Given the description of an element on the screen output the (x, y) to click on. 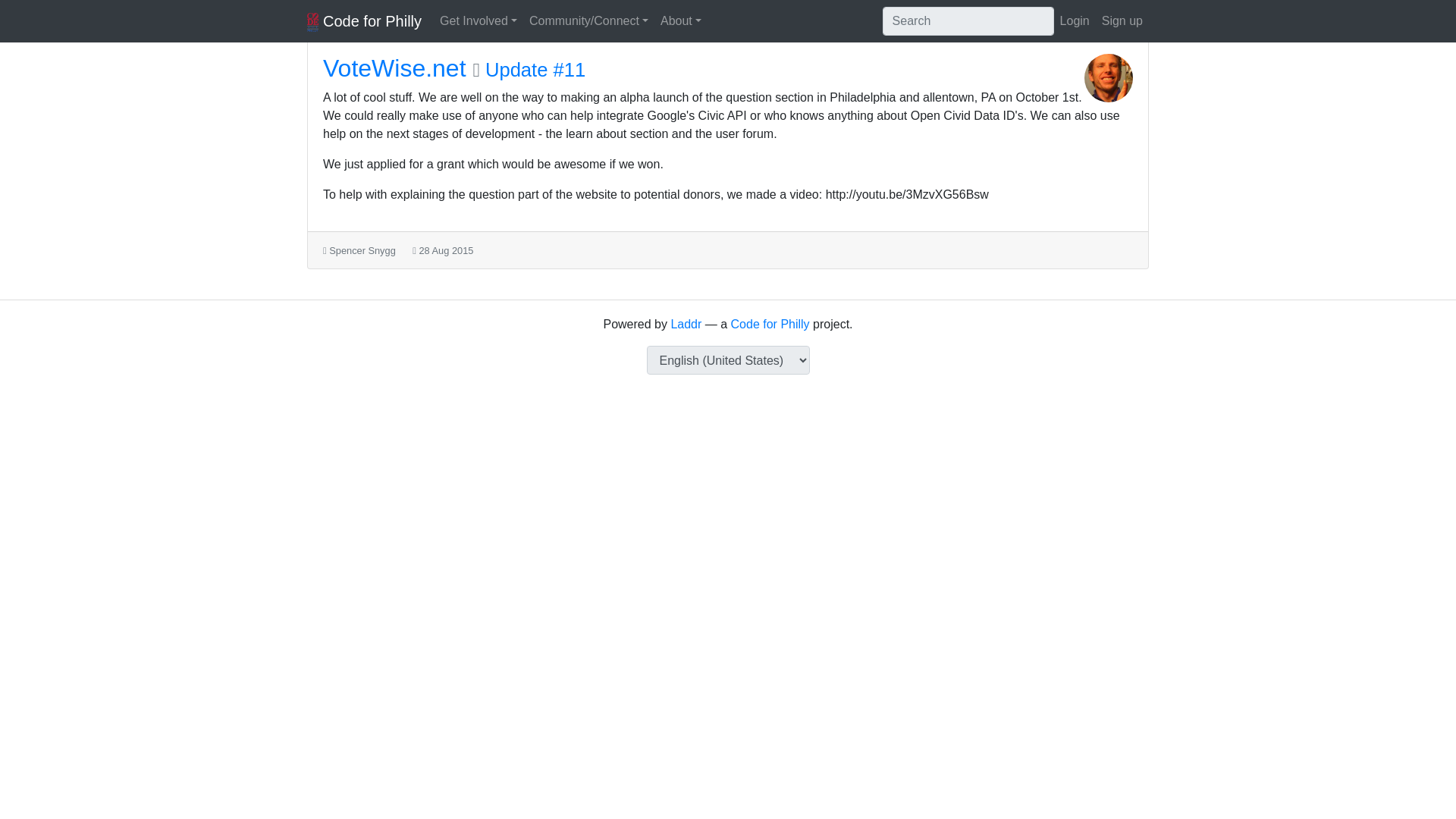
Code for Philly (769, 323)
28 Aug 2015 (446, 250)
Login (1075, 20)
Spencer Snygg (363, 250)
VoteWise.net (394, 67)
Fri 28 Aug 2015 07:16:55 PM EDT (446, 250)
Get Involved (477, 20)
Code for Philly (364, 20)
Sign up (1122, 20)
About (680, 20)
